Given the description of an element on the screen output the (x, y) to click on. 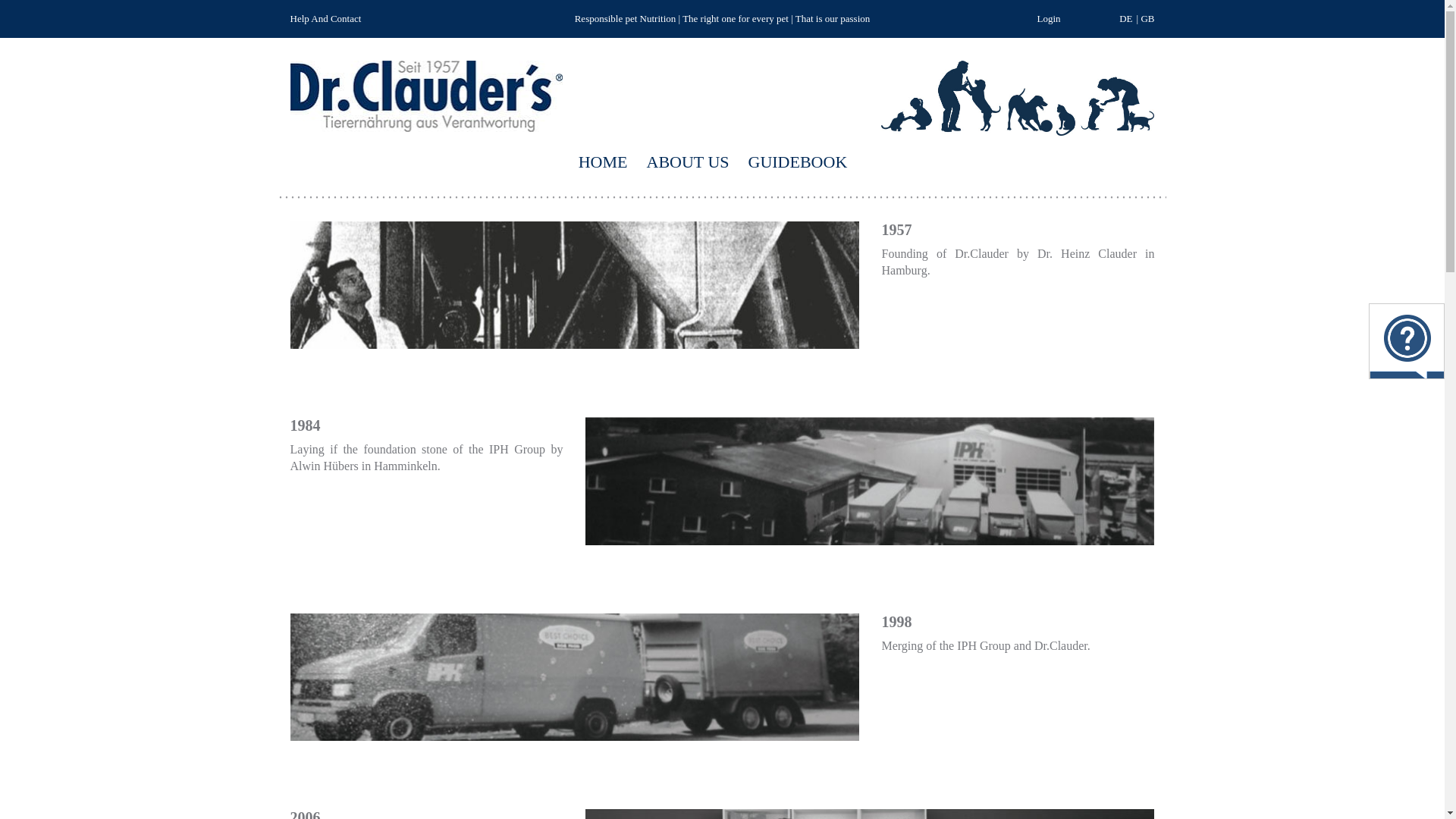
DE (1125, 18)
HOME (602, 165)
GB (1147, 18)
GUIDEBOOK (797, 165)
ABOUT US (687, 165)
Help And Contact (325, 18)
Dr.Clauders - Home (425, 68)
